Given the description of an element on the screen output the (x, y) to click on. 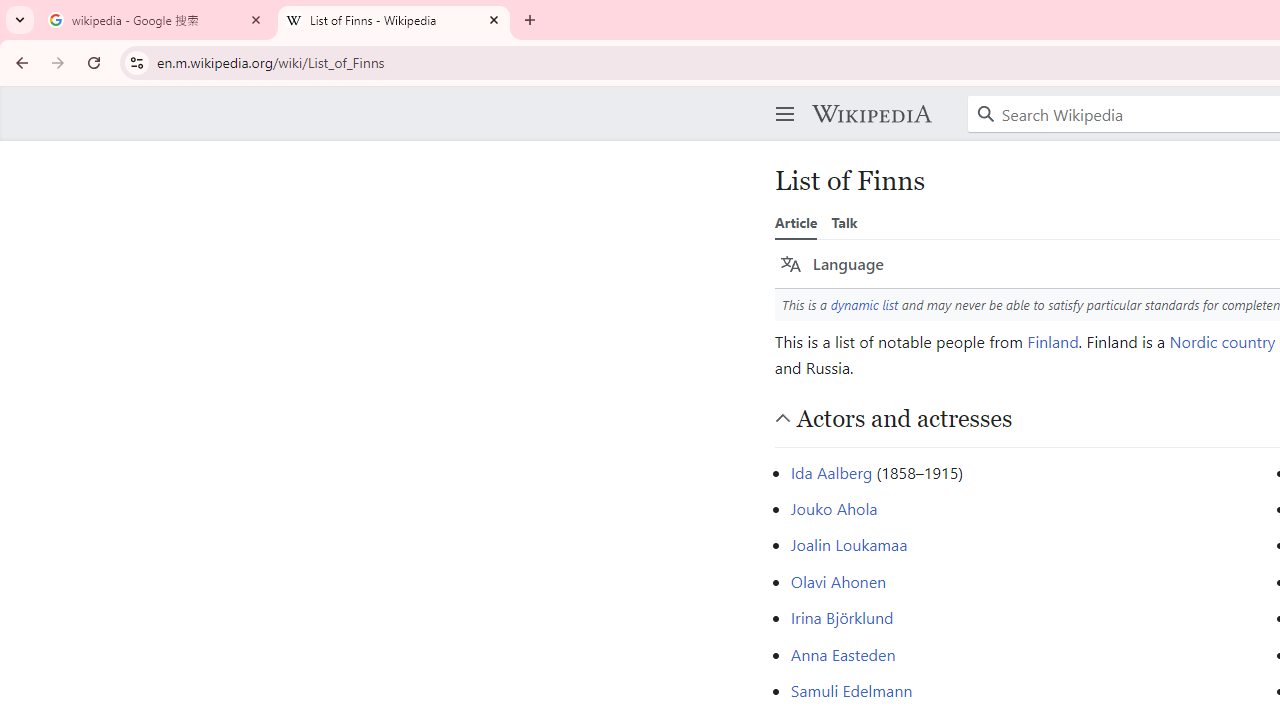
Olavi Ahonen (838, 580)
Nordic country (1222, 340)
Samuli Edelmann (850, 689)
Article (795, 222)
dynamic list (863, 304)
